Given the description of an element on the screen output the (x, y) to click on. 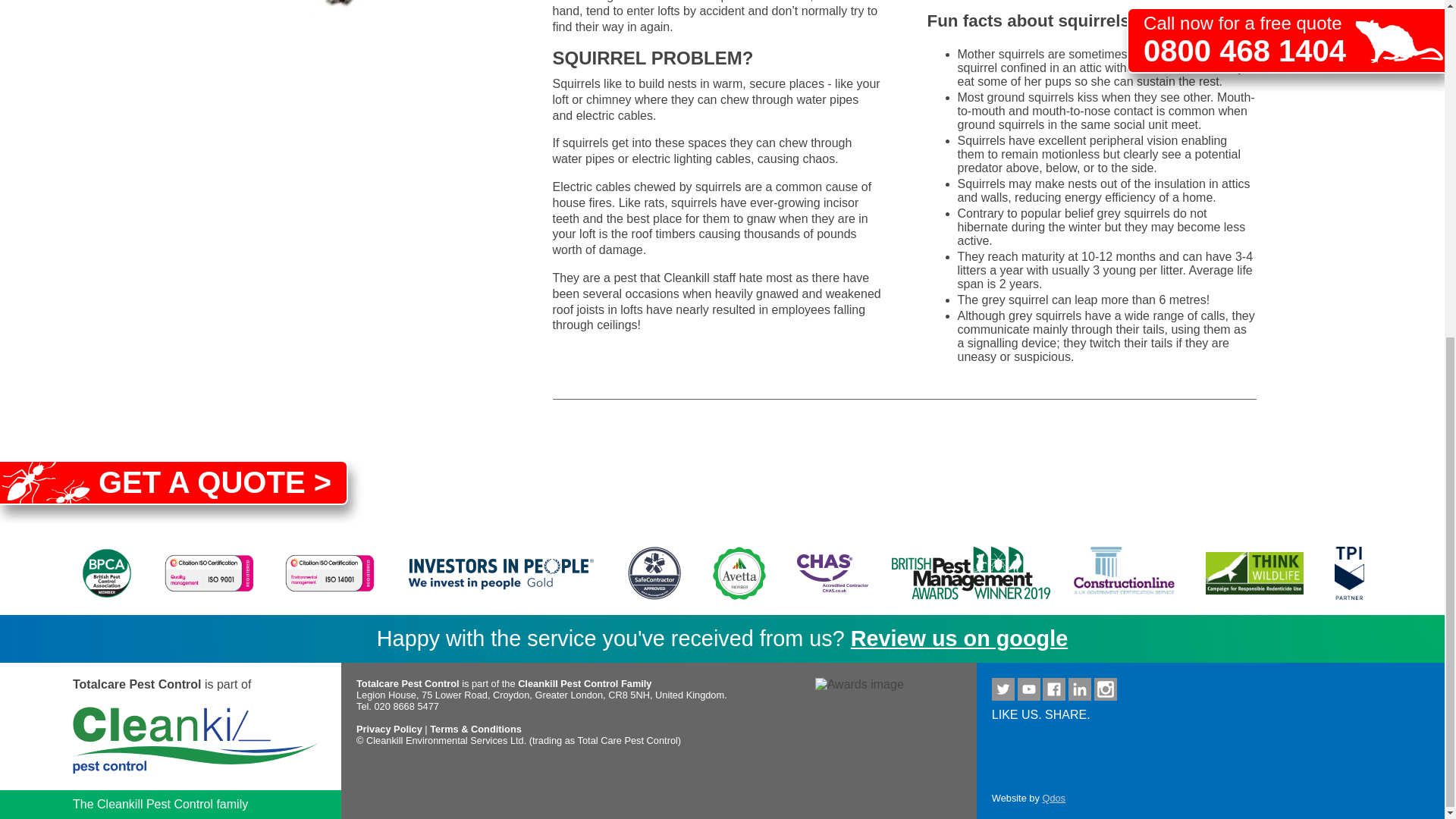
ISO (209, 573)
Safe Contractor (654, 572)
Construction Online (1123, 572)
Avetta (738, 572)
BIFM Awards (966, 573)
CHAS accreditation (828, 573)
BPCA (106, 572)
ISO (329, 573)
Investors in People (500, 572)
